Given the description of an element on the screen output the (x, y) to click on. 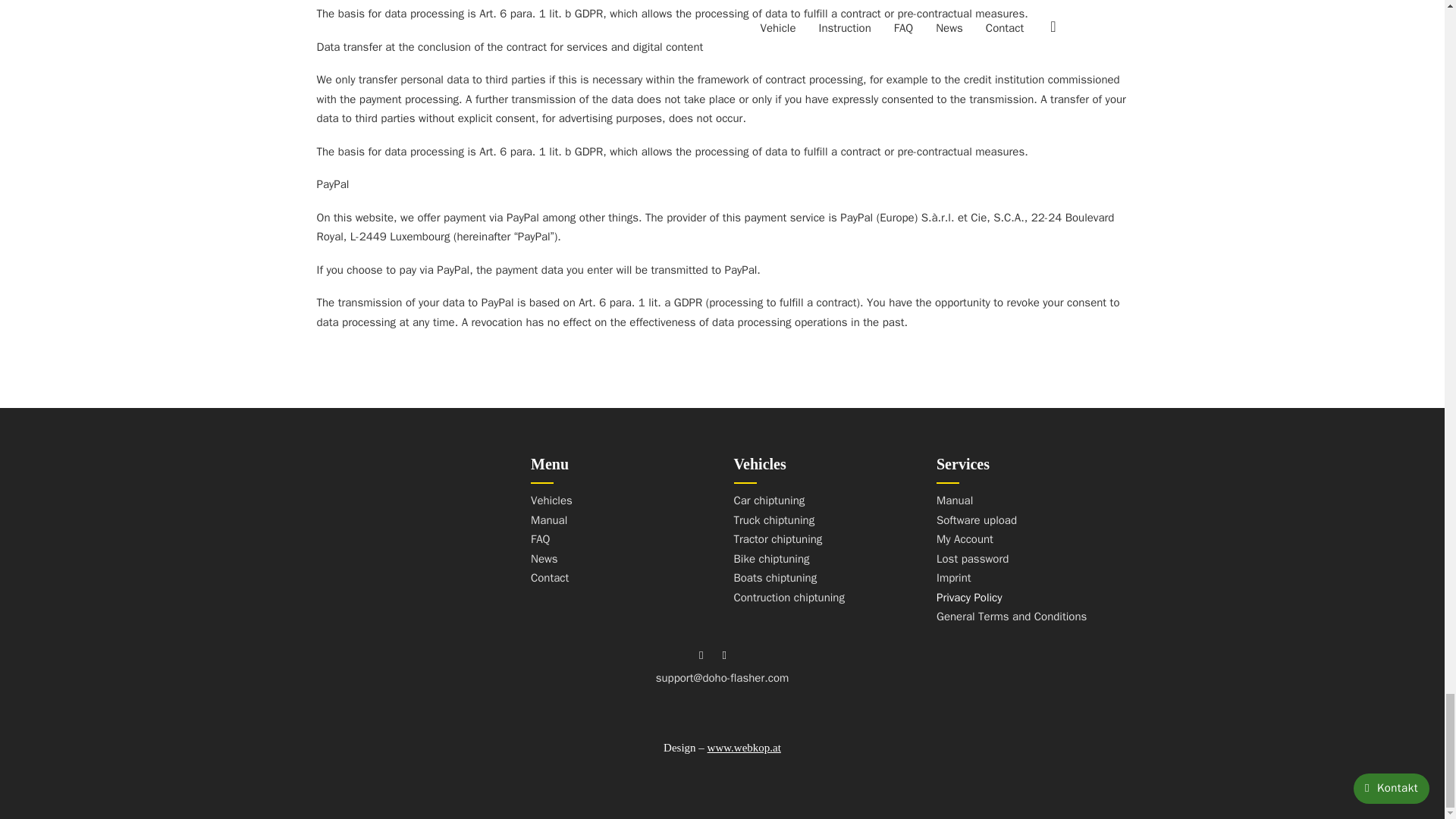
Imprint (1011, 578)
Contruction chiptuning (788, 598)
Truck chiptuning (788, 520)
General Terms and Conditions (1011, 617)
News (551, 559)
Software upload (1011, 520)
Manual (551, 520)
Vehicles (551, 501)
Manual (1011, 501)
Privacy Policy (1011, 598)
Bike chiptuning (788, 559)
FAQ (551, 539)
My Account (1011, 539)
Car chiptuning (788, 501)
Tractor chiptuning (788, 539)
